Given the description of an element on the screen output the (x, y) to click on. 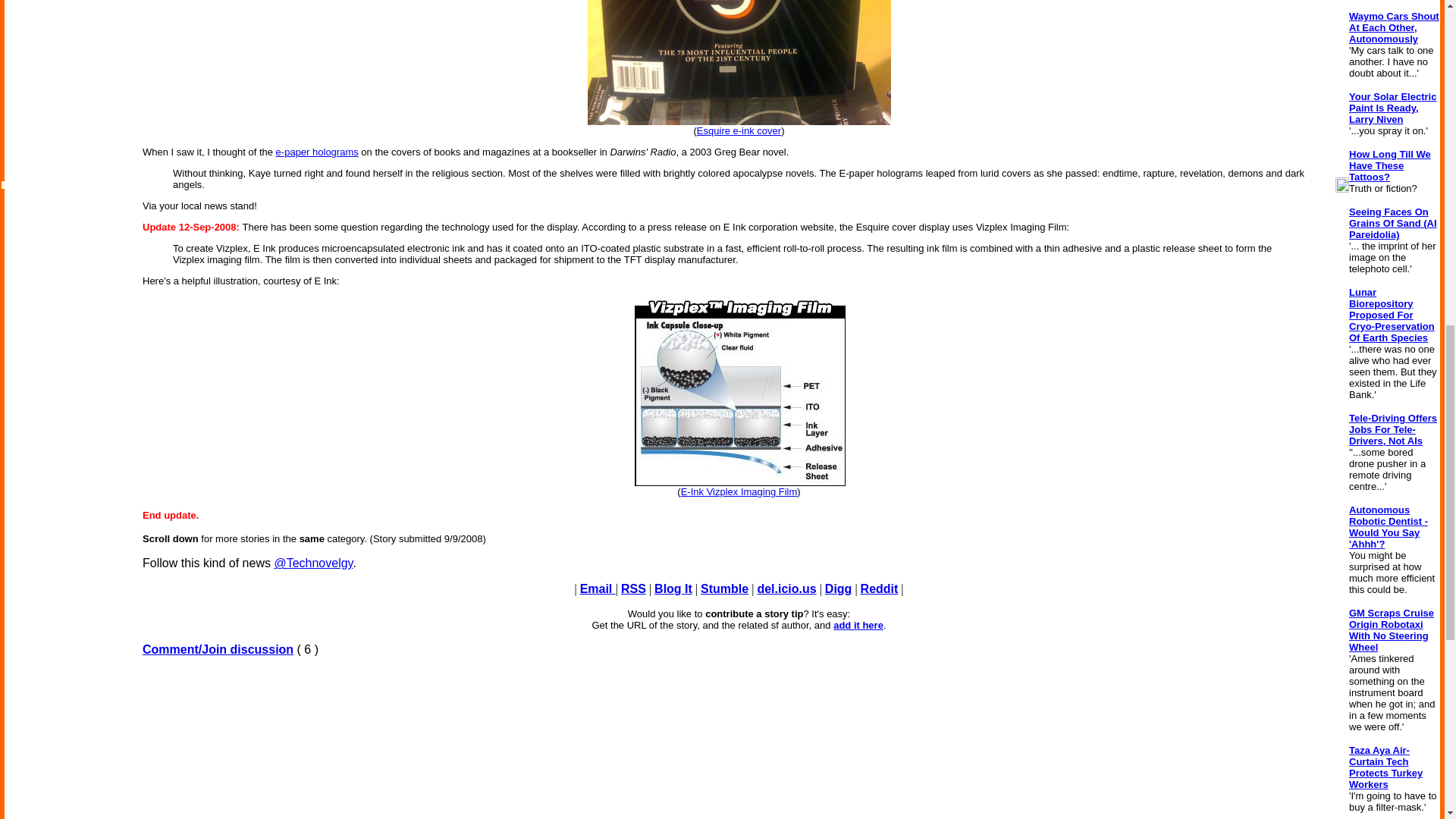
E-Ink Vizplex Imaging Film (739, 491)
Blog It (673, 588)
e-paper holograms (317, 152)
Email (597, 588)
RSS (633, 588)
Esquire e-ink cover (738, 130)
Advertisement (738, 744)
